Given the description of an element on the screen output the (x, y) to click on. 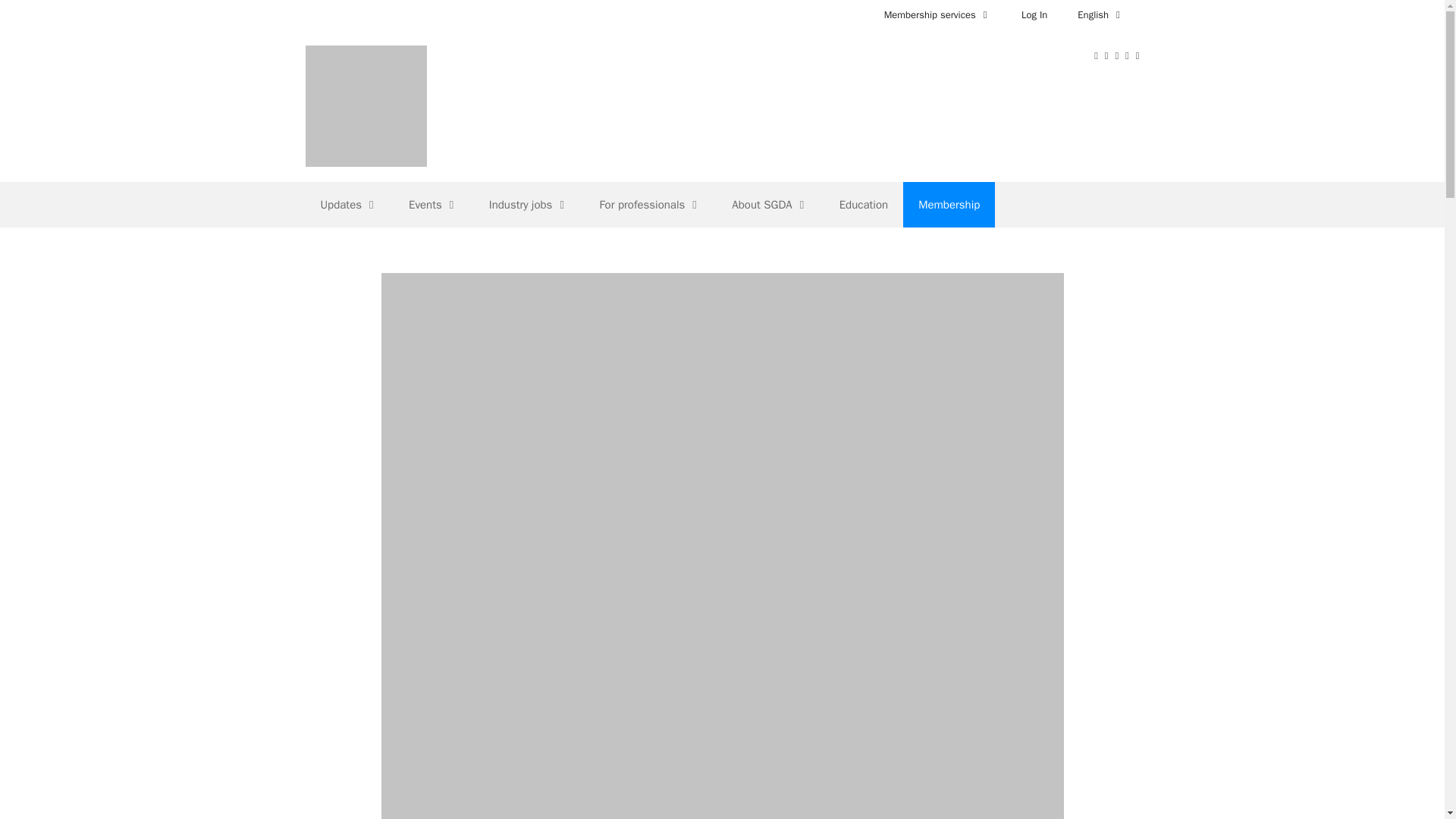
Log In (1034, 15)
English (1100, 15)
English (1100, 15)
Events (433, 204)
Membership services (937, 15)
